Given the description of an element on the screen output the (x, y) to click on. 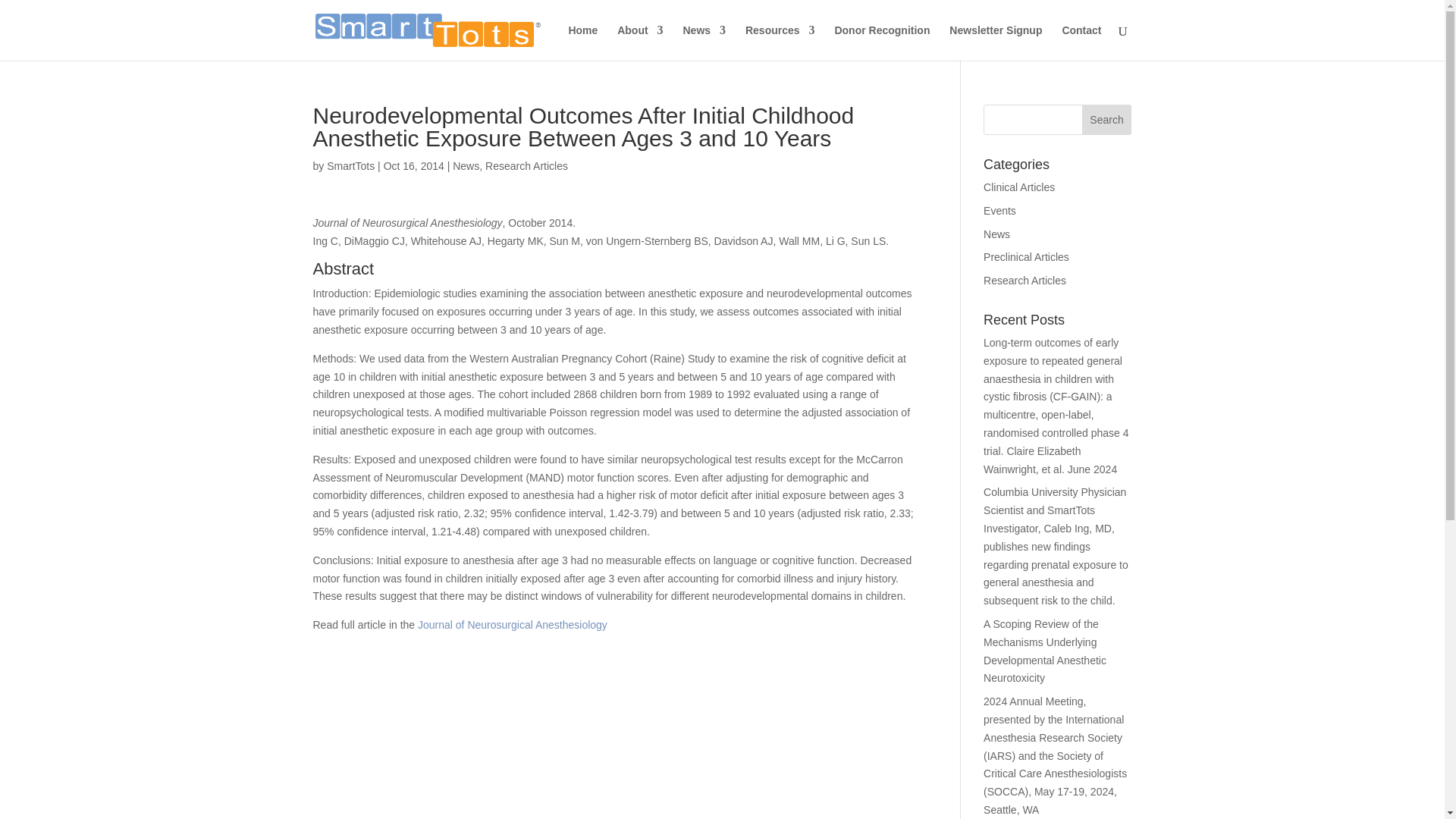
SmartTots (350, 165)
Home (581, 42)
Search (1106, 119)
About (639, 42)
Newsletter Signup (995, 42)
News (703, 42)
Posts by SmartTots (350, 165)
Donor Recognition (882, 42)
Resources (780, 42)
Contact (1080, 42)
